Given the description of an element on the screen output the (x, y) to click on. 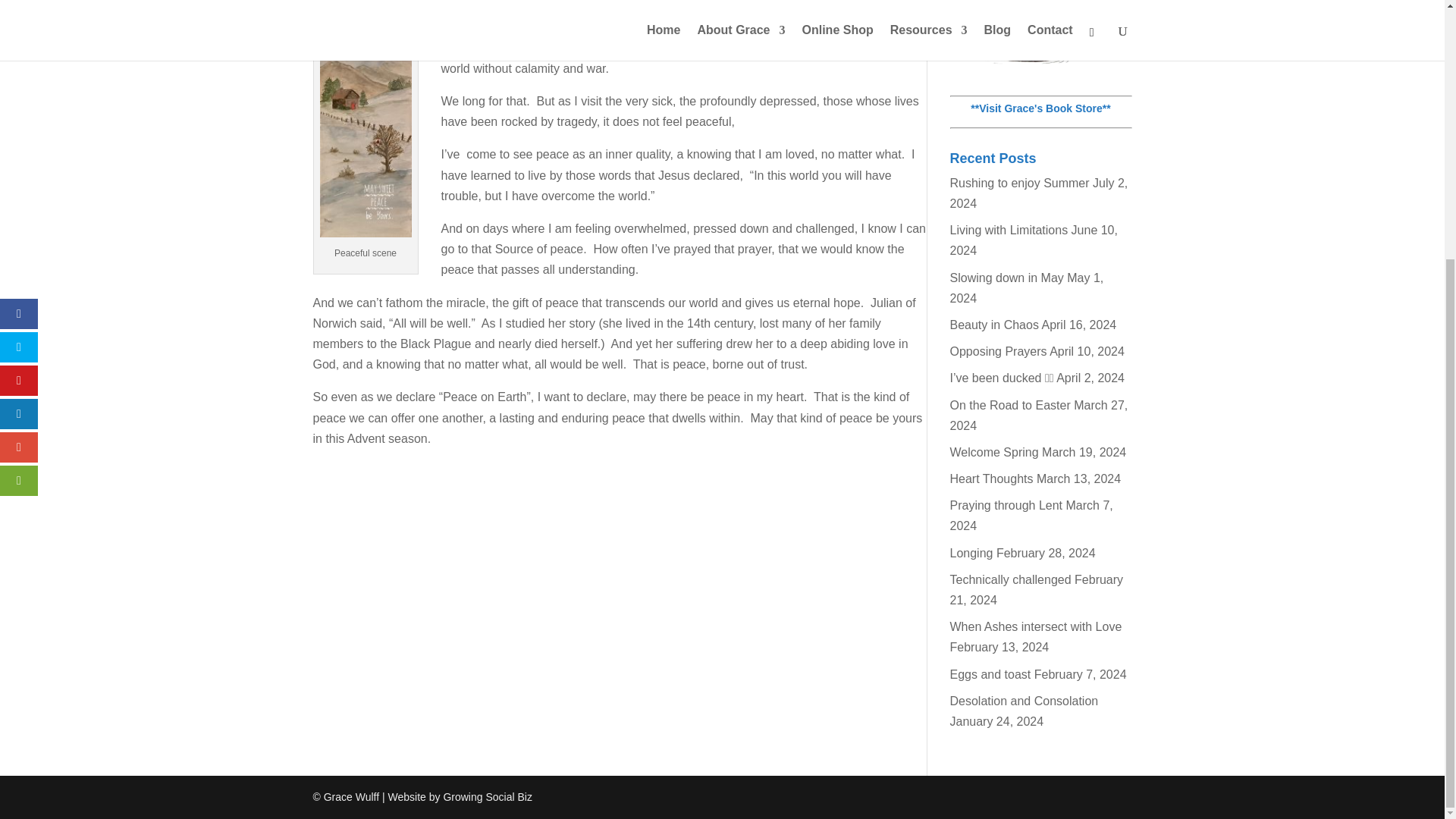
Rushing to enjoy Summer (1019, 182)
Slowing down in May (1005, 277)
Beauty in Chaos (993, 324)
Opposing Prayers (997, 350)
Living with Limitations (1008, 229)
